Given the description of an element on the screen output the (x, y) to click on. 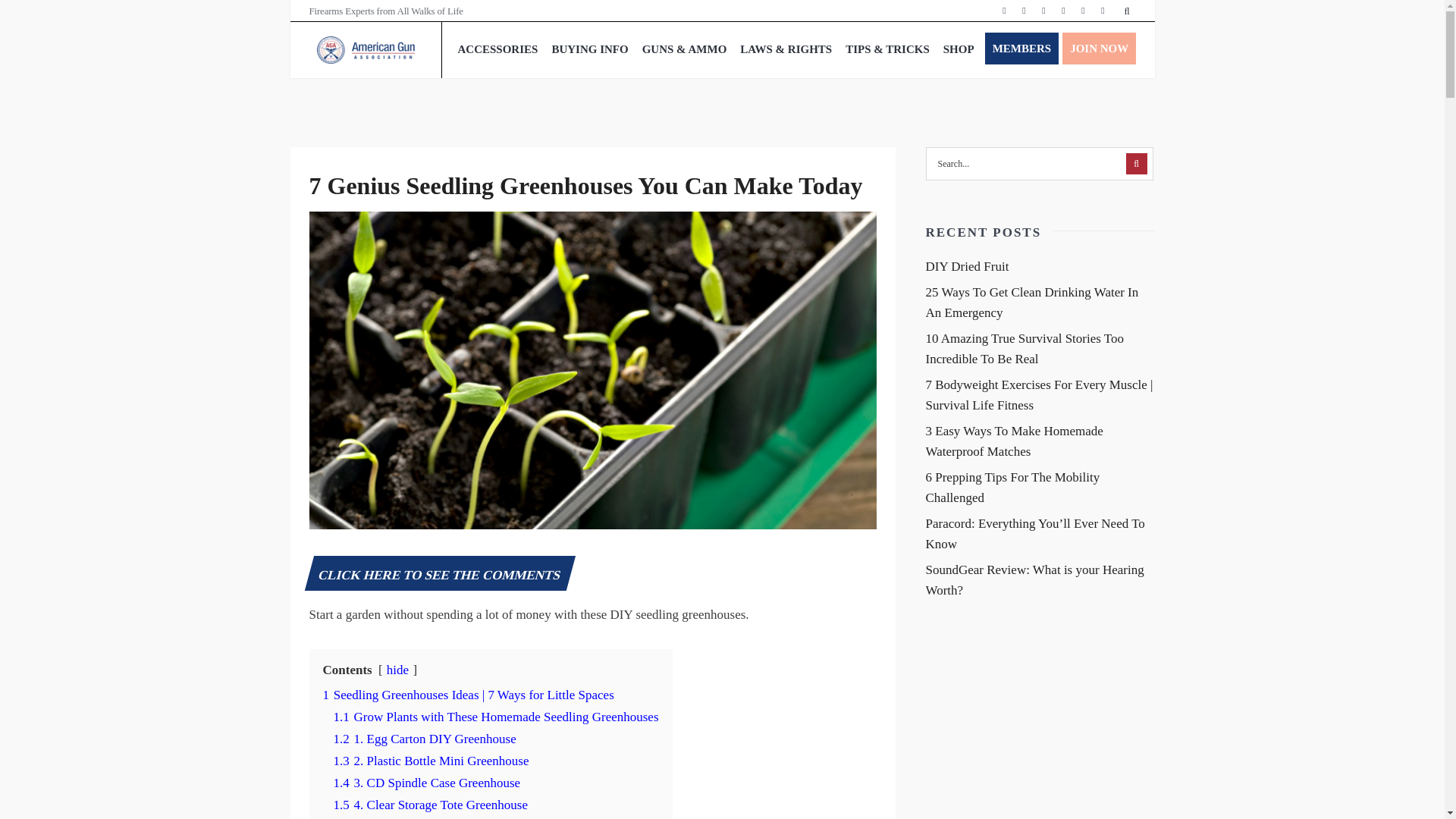
BUYING INFO (589, 49)
JOIN NOW (1098, 48)
Twitter (1023, 10)
hide (398, 669)
SHOP (958, 49)
You Tube (1083, 10)
1.4 3. CD Spindle Case Greenhouse (427, 782)
MEMBERS (1022, 48)
1.3 2. Plastic Bottle Mini Greenhouse (431, 760)
1.2 1. Egg Carton DIY Greenhouse (424, 738)
Facebook (1003, 10)
CLICK HERE TO SEE THE COMMENTS (439, 575)
7 Genius Seedling Greenhouses You Can Make Today (585, 185)
1.1 Grow Plants with These Homemade Seedling Greenhouses (496, 716)
